Given the description of an element on the screen output the (x, y) to click on. 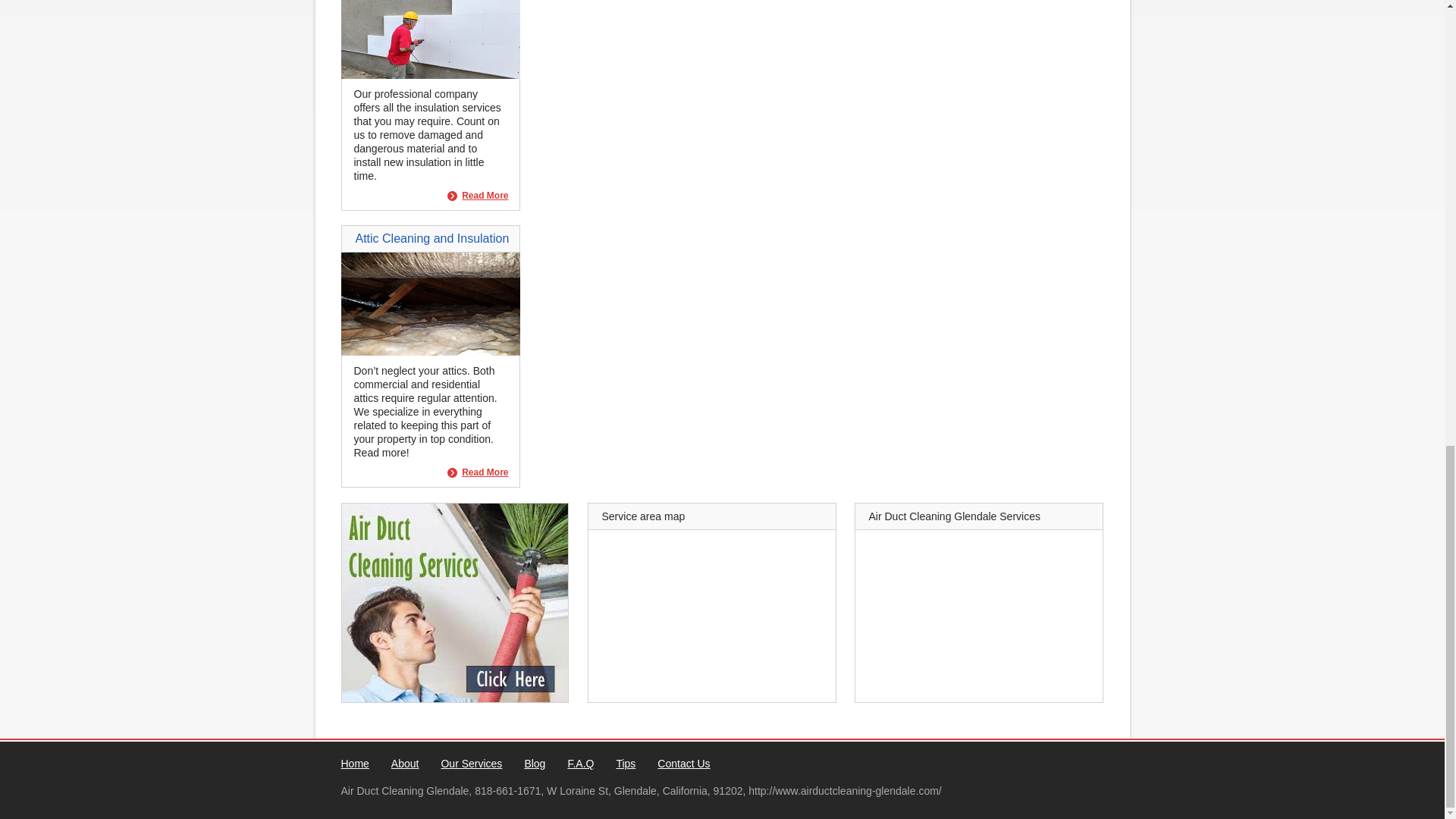
Insulation Services (429, 74)
Read More (477, 195)
Home (354, 763)
Attic Cleaning and Insulation (431, 237)
Attic Cleaning and Insulation (429, 351)
Read More (477, 472)
Read More (477, 472)
Read More (477, 195)
